Given the description of an element on the screen output the (x, y) to click on. 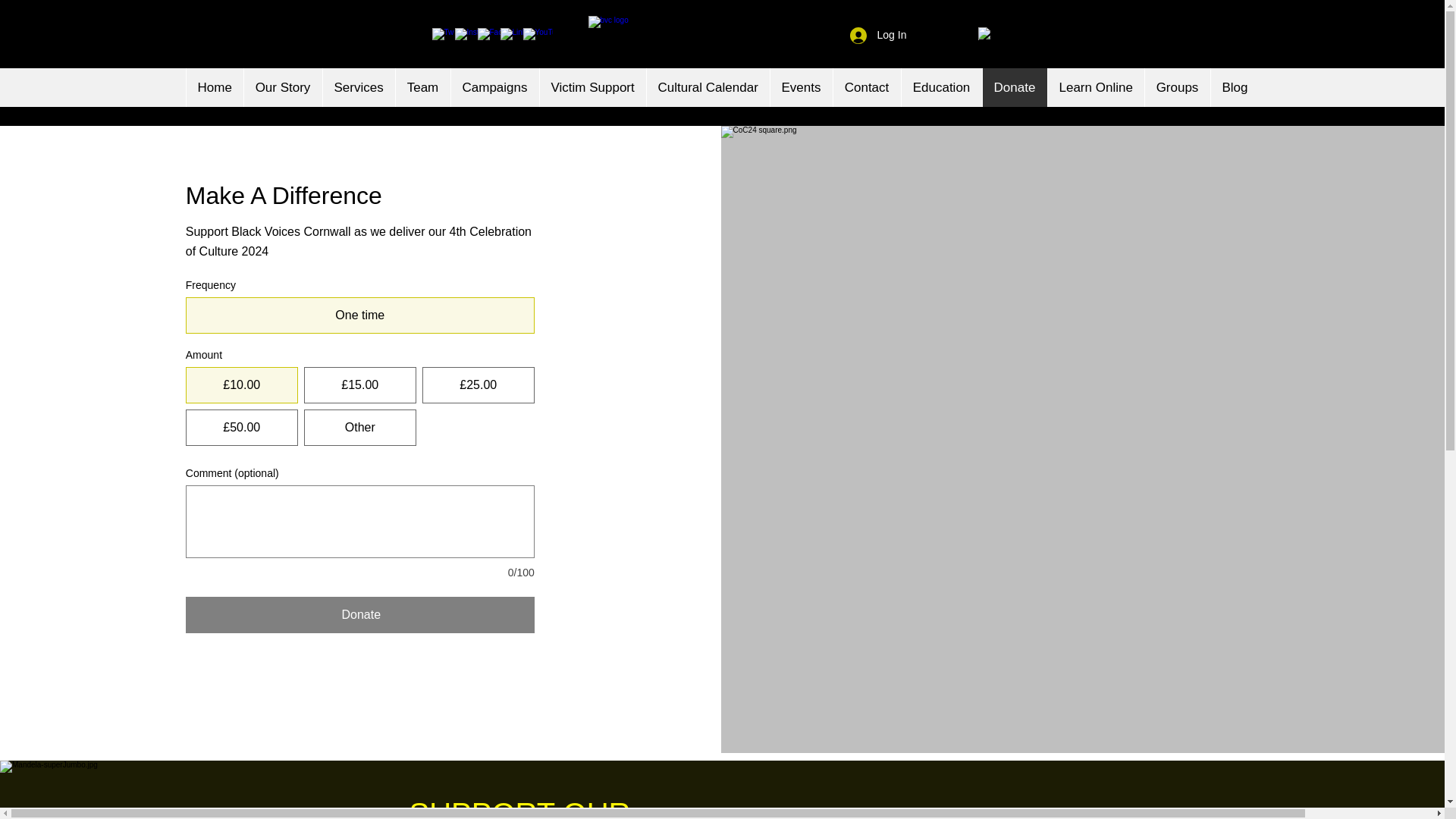
Events (799, 87)
Our Story (282, 87)
Donate (360, 615)
Cultural Calendar (708, 87)
Campaigns (493, 87)
Facebook Like (388, 35)
Groups (1175, 87)
Victim Support (591, 87)
Donate (1013, 87)
Education (941, 87)
Team (421, 87)
Services (357, 87)
Home (213, 87)
Contact (866, 87)
Learn Online (1094, 87)
